Given the description of an element on the screen output the (x, y) to click on. 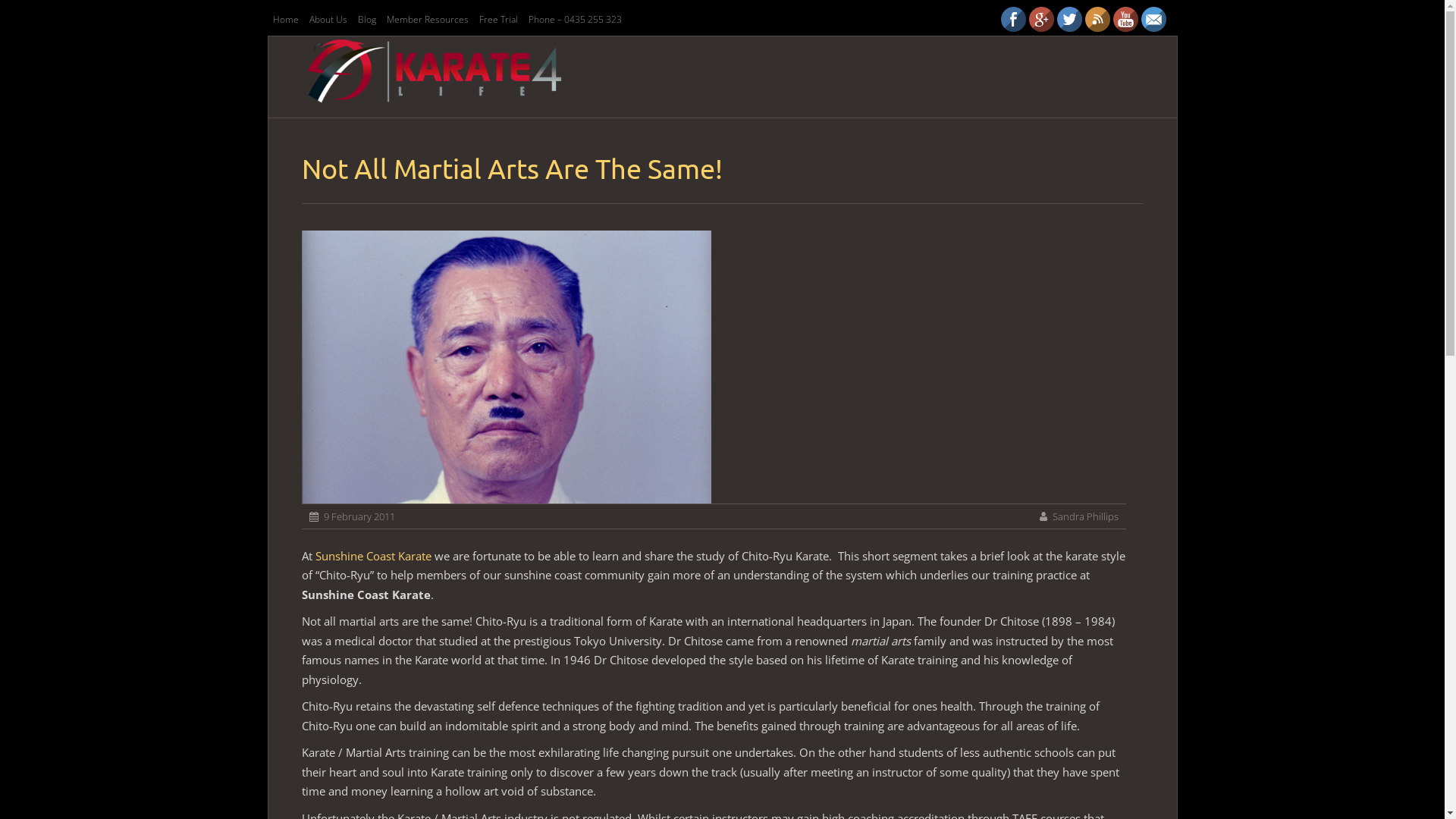
YouTube Element type: hover (1125, 18)
Facebook Element type: hover (1013, 18)
Free Trial Element type: text (497, 19)
Blog Element type: text (366, 19)
9 February 2011 Element type: text (358, 516)
Subscribe to RSS Feeds Element type: hover (1096, 18)
Google Plus Element type: hover (1040, 18)
Home Element type: text (284, 19)
Sandra Phillips Element type: text (1085, 516)
Twitter Element type: hover (1069, 18)
Sunshine Coast Karate Element type: text (373, 555)
Skip to content Element type: text (598, 65)
About Us Element type: text (327, 19)
Member Resources Element type: text (426, 19)
Mail Element type: hover (1152, 18)
